Given the description of an element on the screen output the (x, y) to click on. 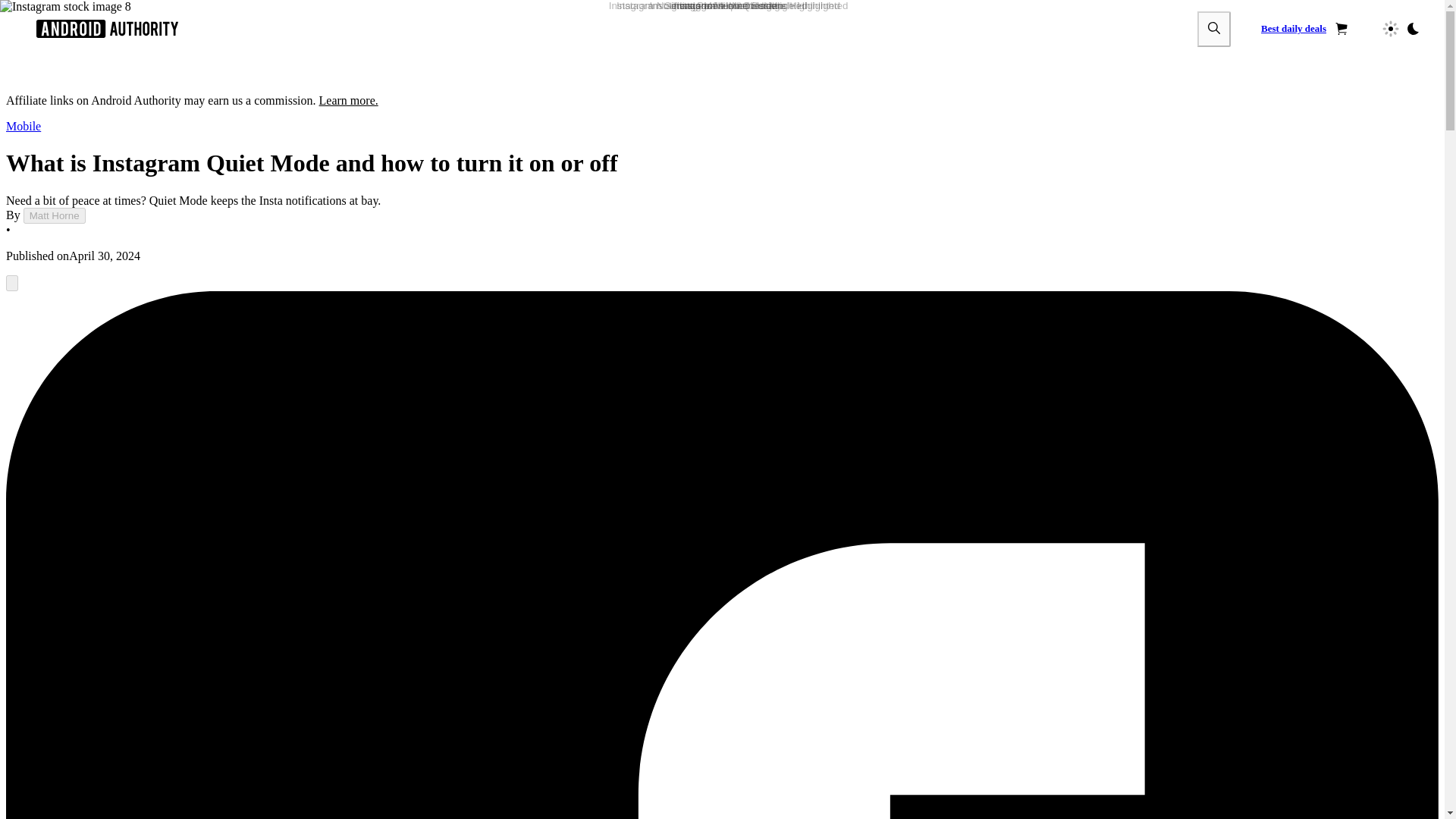
Matt Horne (54, 215)
Best daily deals (1304, 28)
Learn more. (348, 100)
Mobile (22, 125)
